Given the description of an element on the screen output the (x, y) to click on. 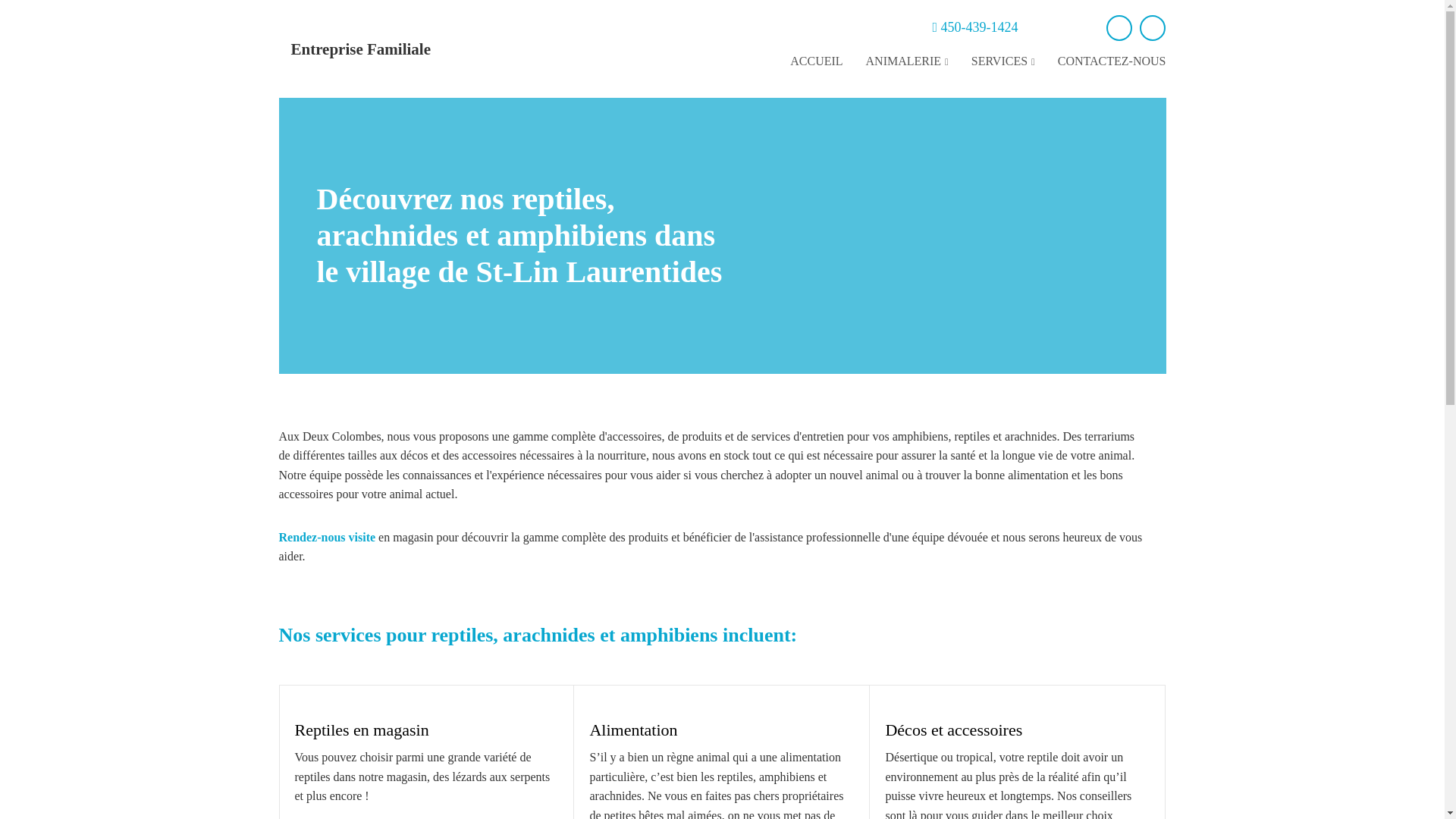
ANIMALERIE Element type: text (907, 61)
Facebook Element type: hover (1118, 27)
ACCUEIL Element type: text (816, 61)
instagram Element type: hover (1152, 27)
Rendez-nous visite Element type: text (327, 536)
CONTACTEZ-NOUS Element type: text (1111, 61)
SERVICES Element type: text (1003, 61)
